Given the description of an element on the screen output the (x, y) to click on. 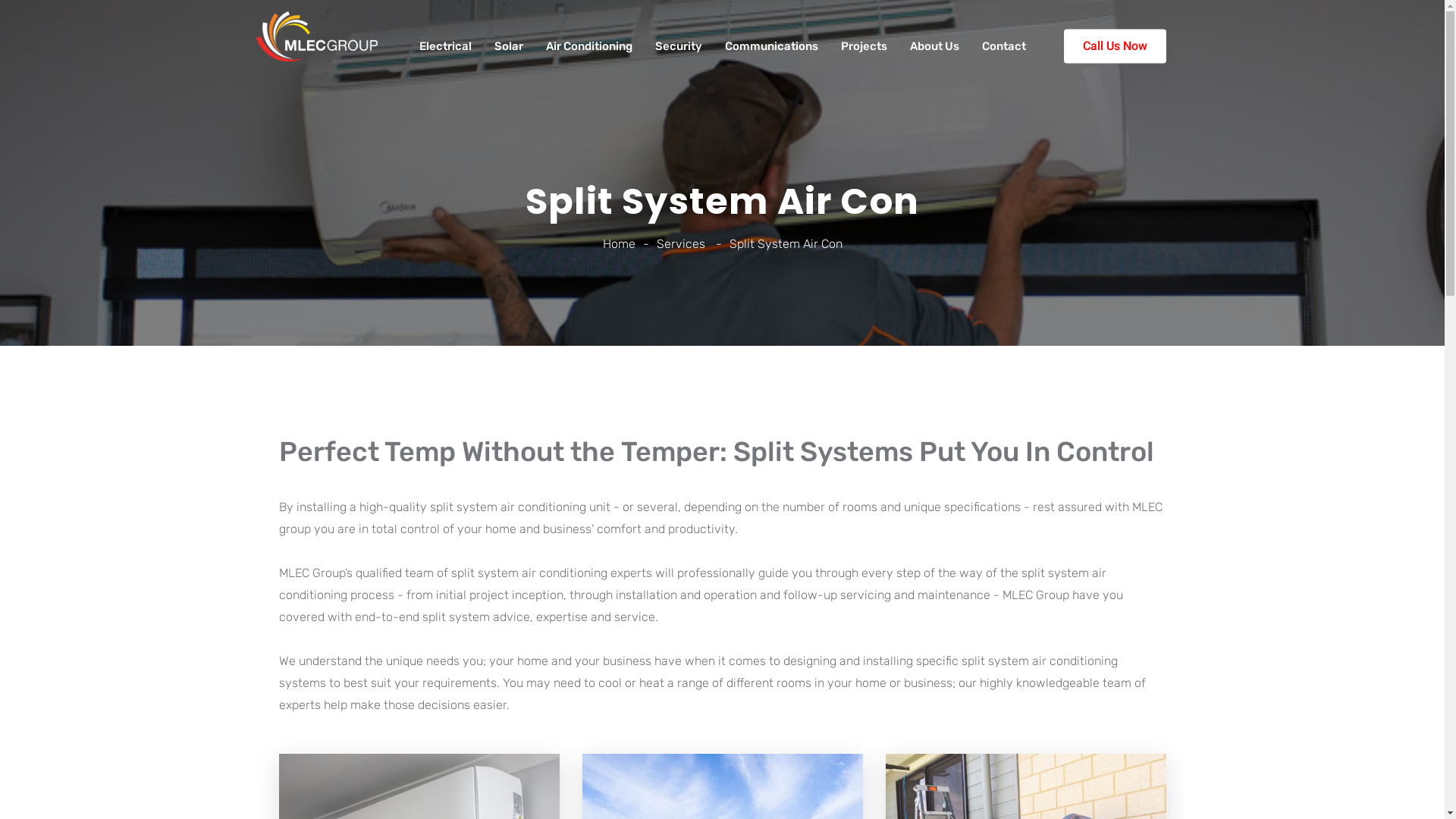
Electrical Element type: text (444, 45)
Air Conditioning Element type: text (589, 45)
Call Us Now Element type: text (1114, 45)
Contact Element type: text (1003, 45)
Solar Element type: text (508, 45)
Home Element type: text (618, 243)
About Us Element type: text (934, 45)
Projects Element type: text (863, 45)
Security Element type: text (678, 45)
Communications Element type: text (771, 45)
Services Element type: text (680, 243)
logo Element type: hover (316, 36)
